Given the description of an element on the screen output the (x, y) to click on. 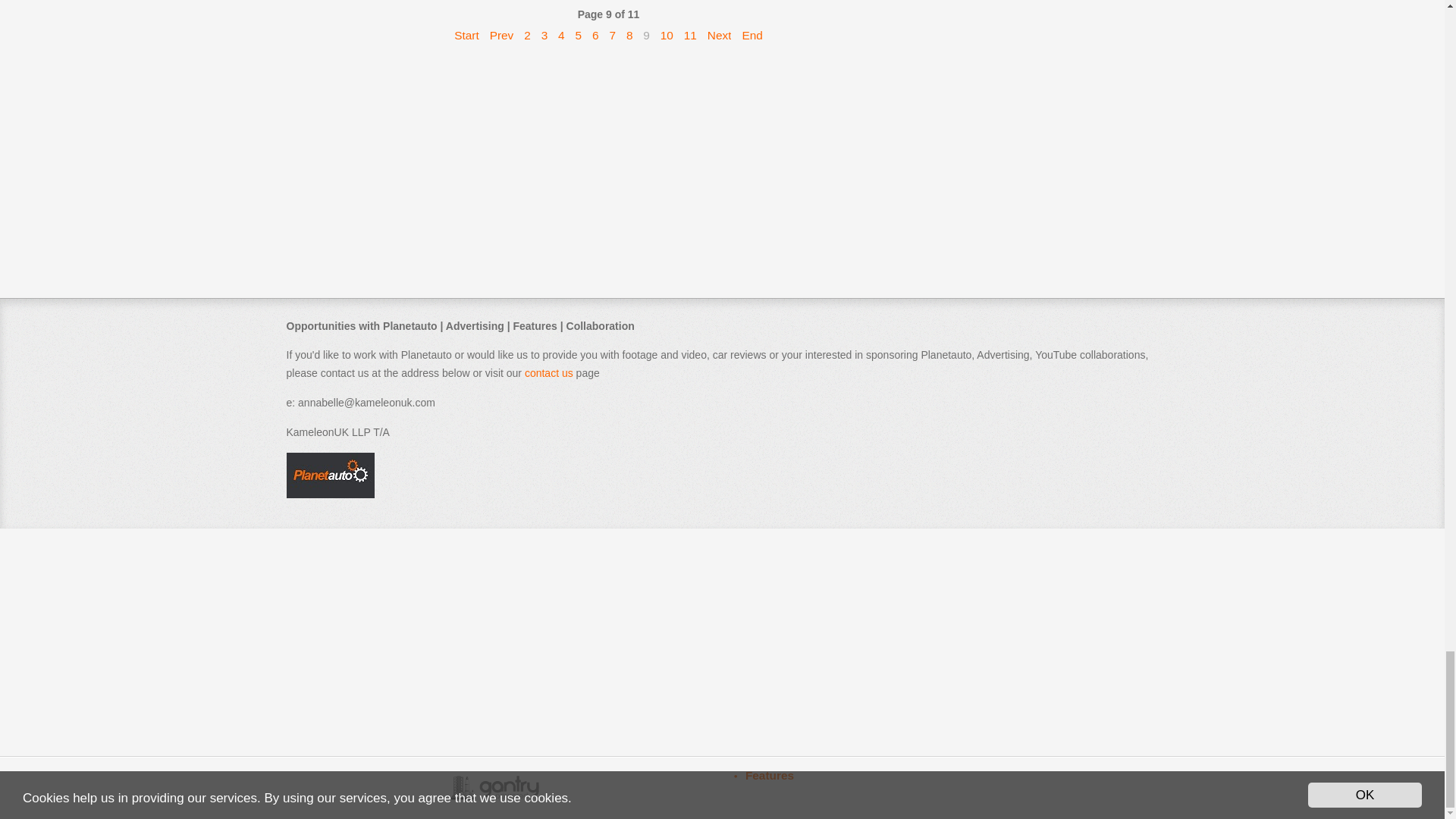
Gantry Framework (494, 787)
Contact us (548, 372)
